Given the description of an element on the screen output the (x, y) to click on. 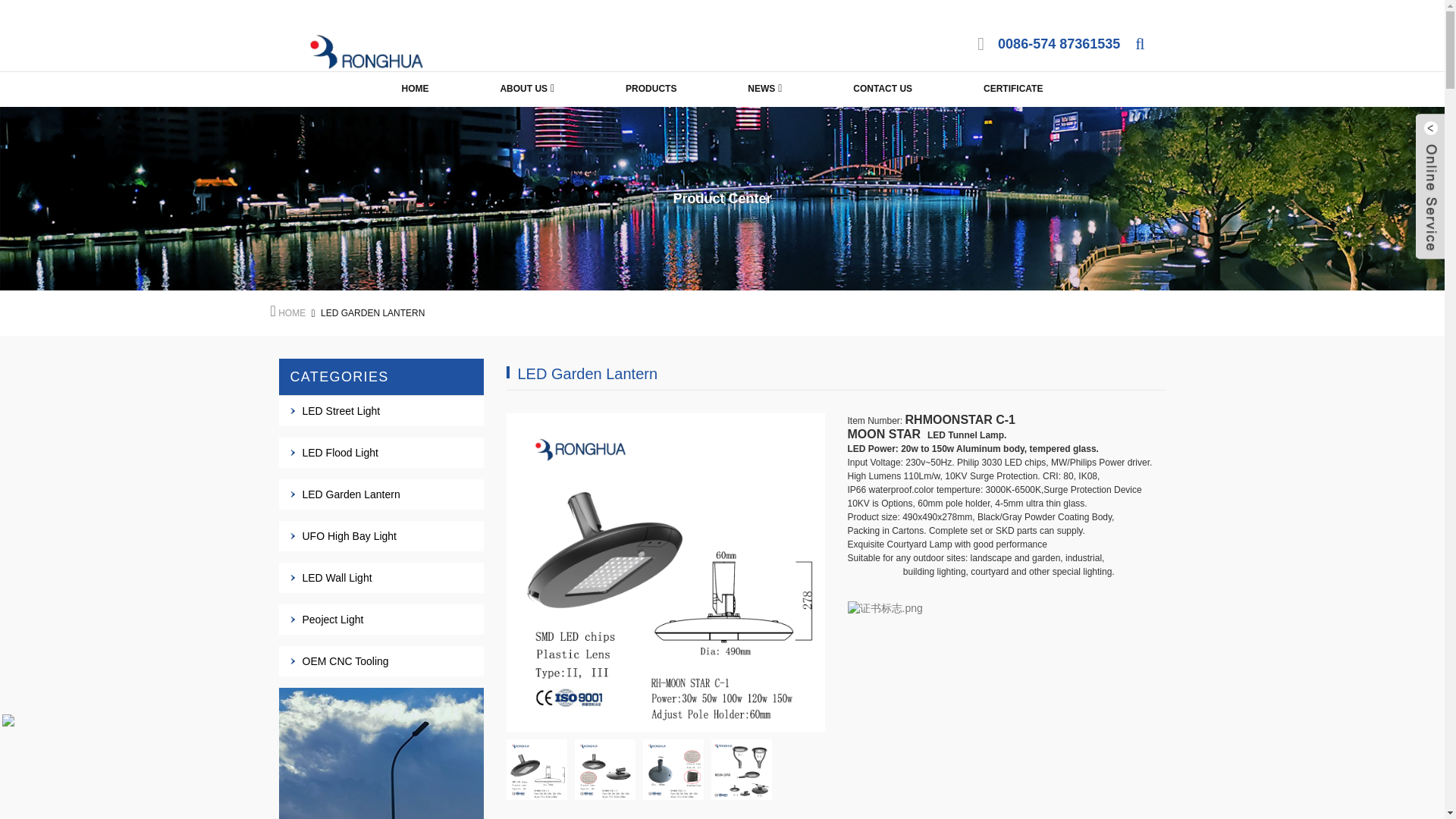
HOME (291, 312)
Installing Your Wood Floor (604, 769)
LED Wall Light (336, 577)
0086-574 87361535 (1058, 43)
1607754005465748.png (885, 608)
Installing Your Wood Floor (673, 769)
LED Garden Lantern (349, 494)
Peoject Light (331, 619)
Installing Your Wood Floor (536, 769)
CERTIFICATE (1013, 88)
UFO High Bay Light (348, 535)
OEM CNC Tooling (344, 661)
Installing Your Wood Floor (741, 769)
CONTACT US (882, 88)
PRODUCTS (651, 88)
